Given the description of an element on the screen output the (x, y) to click on. 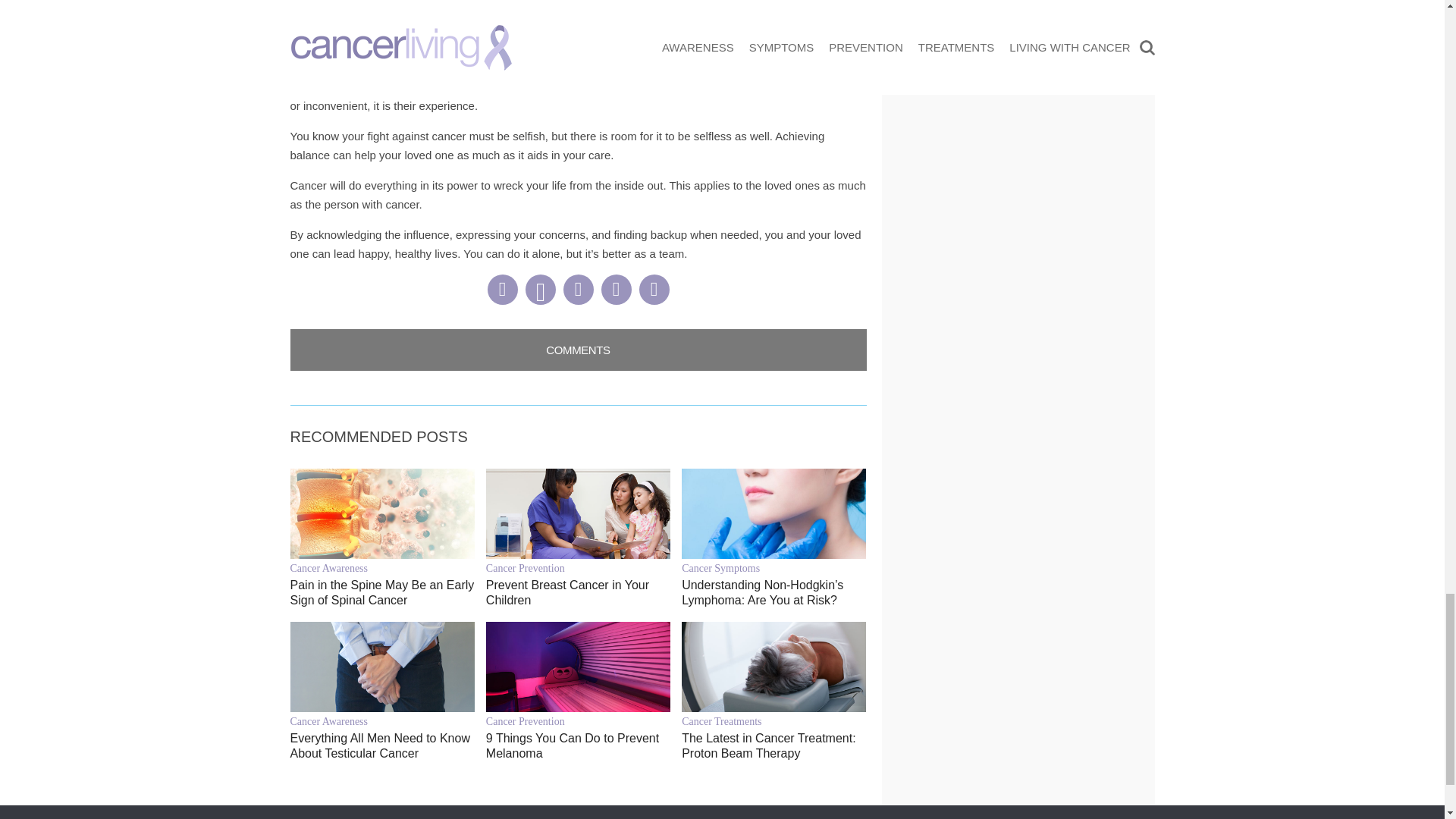
Pain in the Spine May Be an Early Sign of Spinal Cancer (381, 593)
Cancer Awareness (381, 568)
Messenger (577, 289)
Pinterest (539, 289)
Twitter (614, 289)
Cancer Symptoms (773, 568)
Prevent Breast Cancer in Your Children (577, 593)
Cancer Prevention (577, 568)
Facebook (501, 289)
Email (653, 289)
Everything All Men Need to Know About Testicular Cancer (381, 746)
COMMENTS (577, 350)
Cancer Awareness (381, 721)
